Given the description of an element on the screen output the (x, y) to click on. 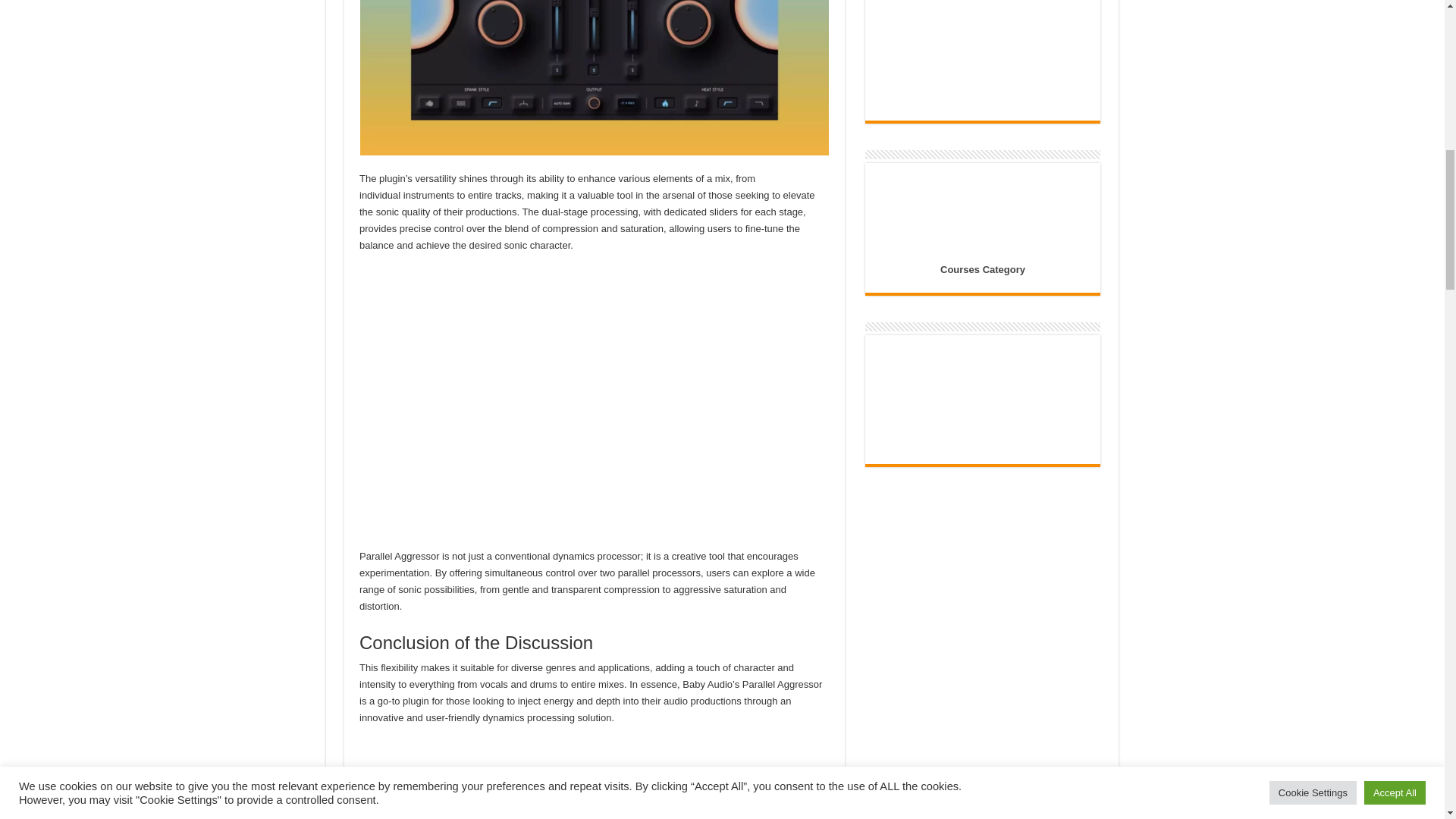
DMCA.com Protection Status (982, 398)
Scroll To Top (1421, 60)
